Given the description of an element on the screen output the (x, y) to click on. 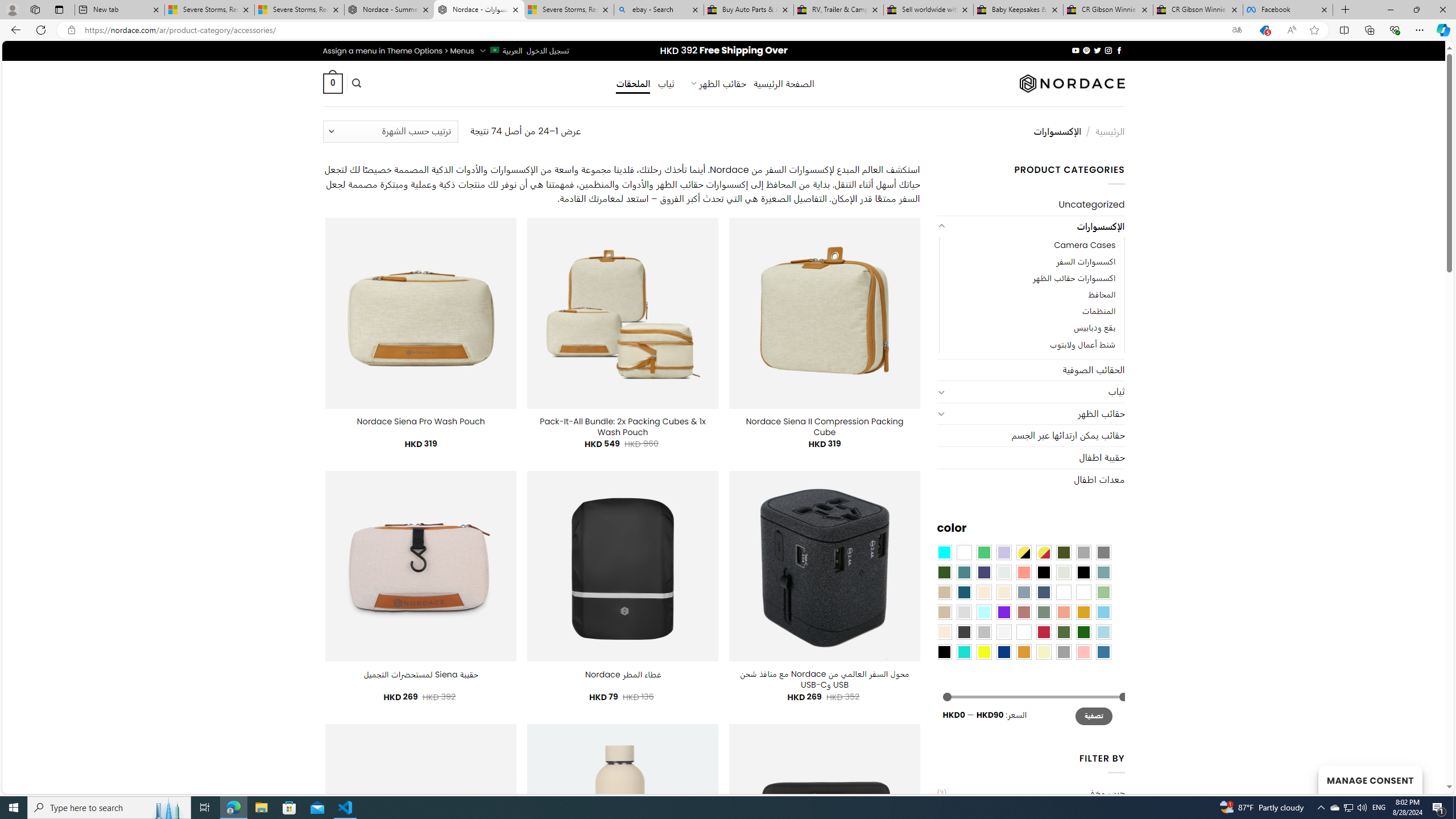
Light Green (1103, 591)
Black-Brown (1082, 572)
Clear (963, 551)
Sell worldwide with eBay (928, 9)
Ash Gray (1063, 572)
Dull Nickle (1003, 572)
